Given the description of an element on the screen output the (x, y) to click on. 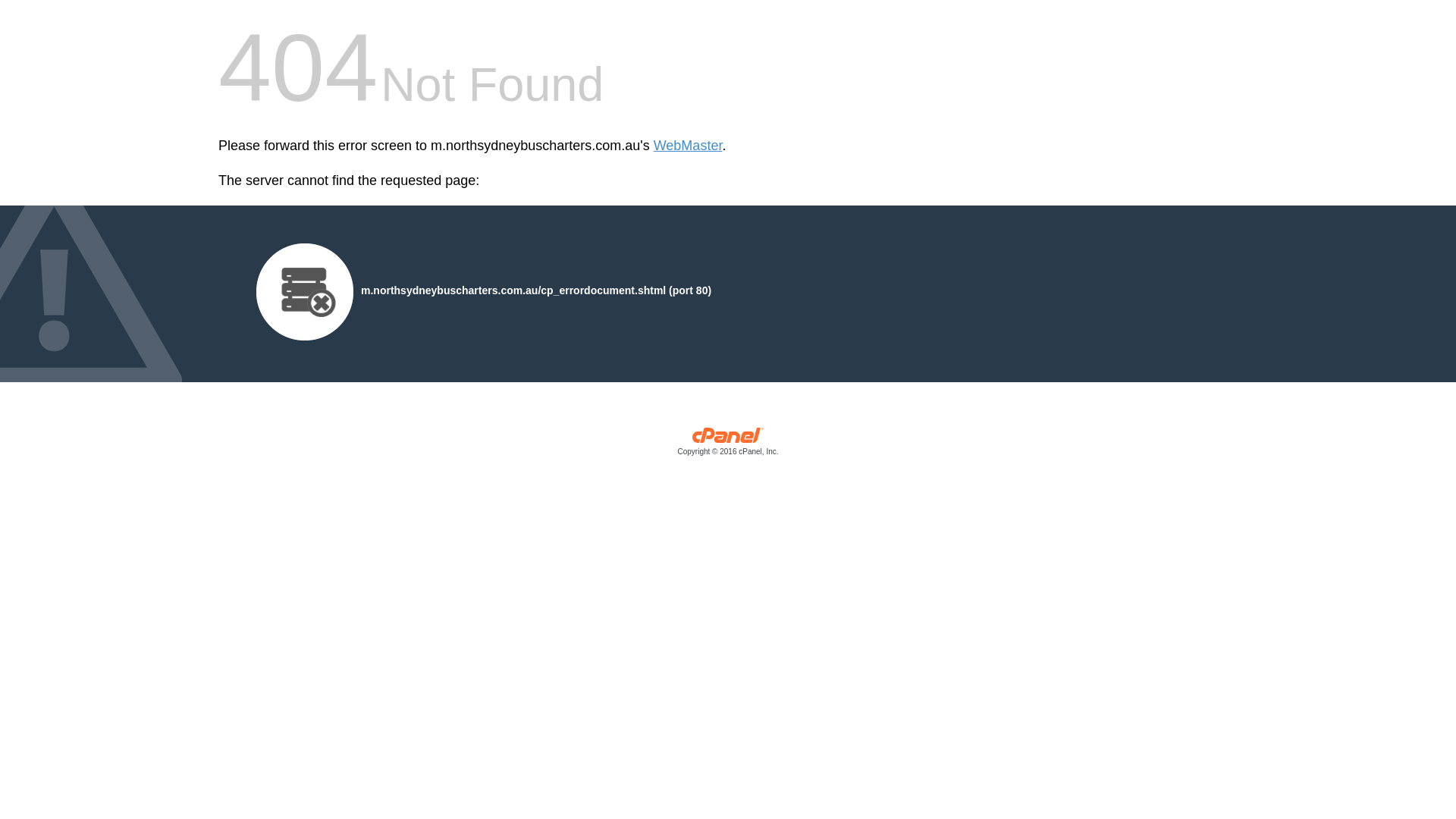
WebMaster Element type: text (687, 145)
